Given the description of an element on the screen output the (x, y) to click on. 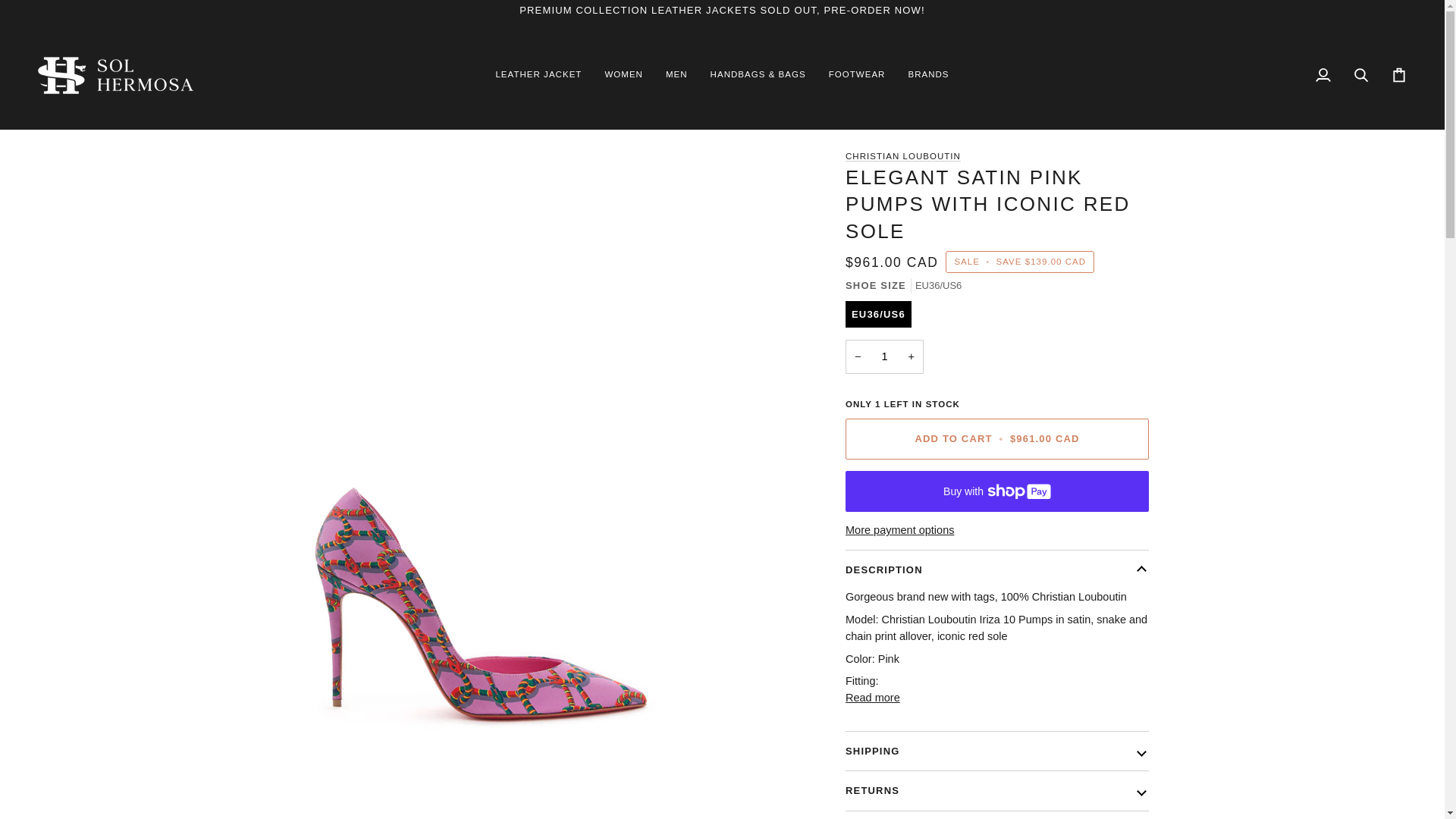
1 (884, 356)
LEATHER JACKET (537, 75)
